Given the description of an element on the screen output the (x, y) to click on. 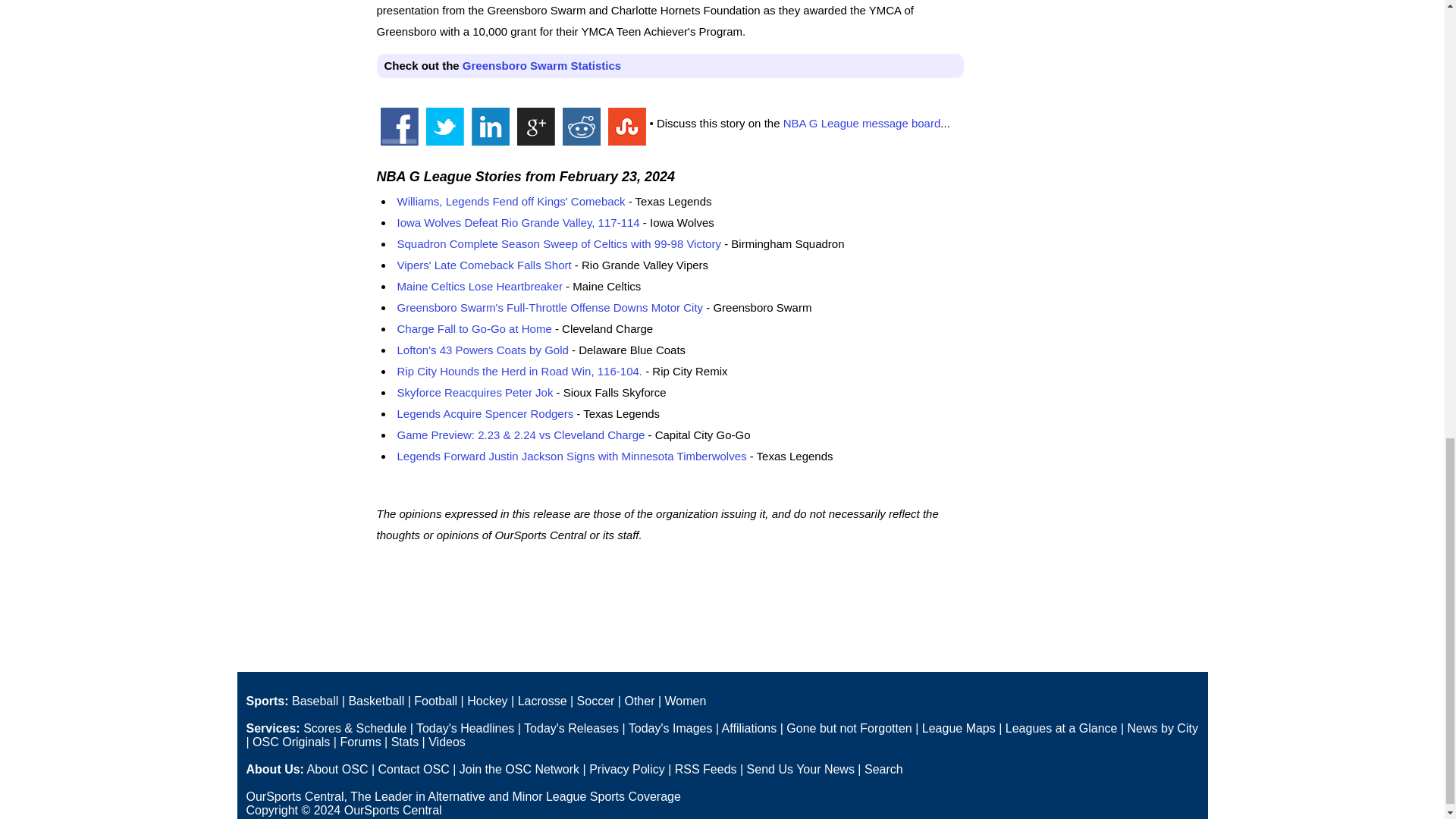
Today's Headlines (464, 727)
Leagues at a Glance (1062, 727)
Sports Statistics (405, 741)
Greensboro Swarm Statistics (542, 65)
League Maps (958, 727)
About OSC (336, 768)
Gone but not Forgotten (848, 727)
Today's Releases (571, 727)
OSC Video (446, 741)
Today's Images (670, 727)
